Given the description of an element on the screen output the (x, y) to click on. 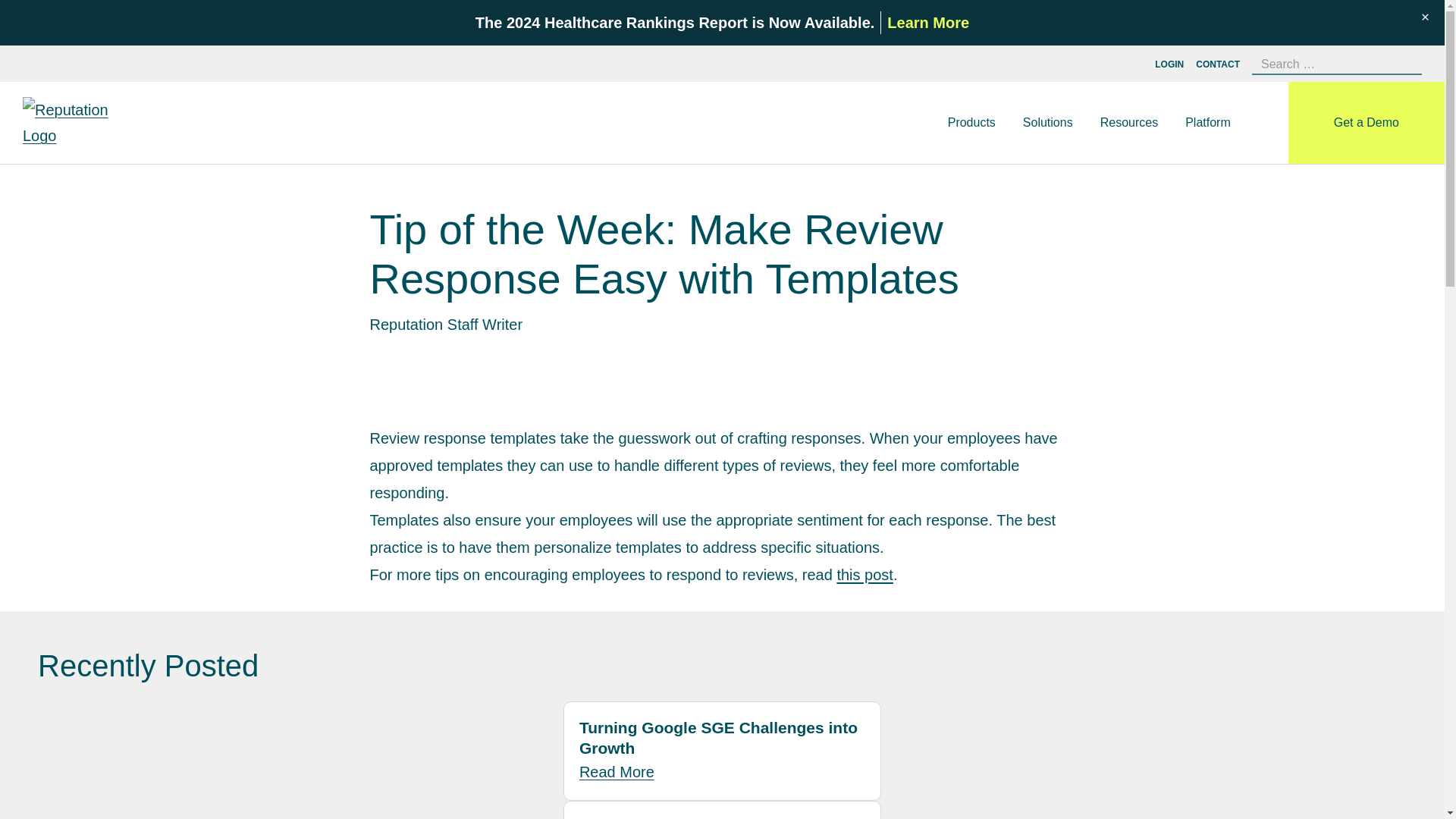
Resources (1129, 122)
Reputation (79, 122)
CONTACT (1217, 63)
Products (971, 122)
Solutions (1047, 122)
LOGIN (1168, 63)
